Given the description of an element on the screen output the (x, y) to click on. 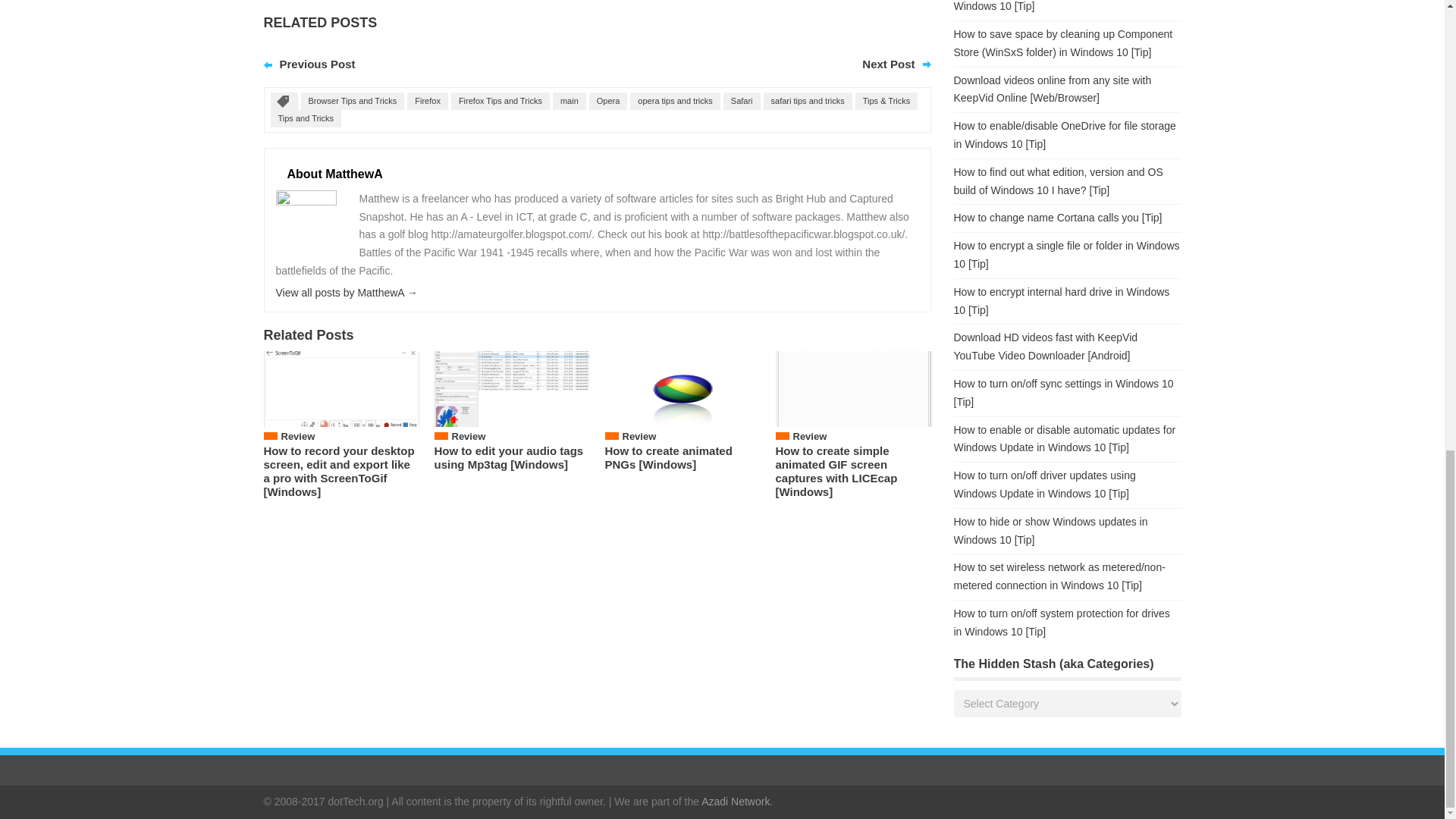
main (569, 100)
Opera (608, 100)
safari tips and tricks (806, 100)
Next Post (887, 63)
Review (468, 436)
Browser Tips and Tricks (351, 100)
Review (297, 436)
Firefox Tips and Tricks (500, 100)
Previous Post (317, 63)
opera tips and tricks (674, 100)
Firefox (427, 100)
Safari (741, 100)
Tips and Tricks (304, 118)
